Given the description of an element on the screen output the (x, y) to click on. 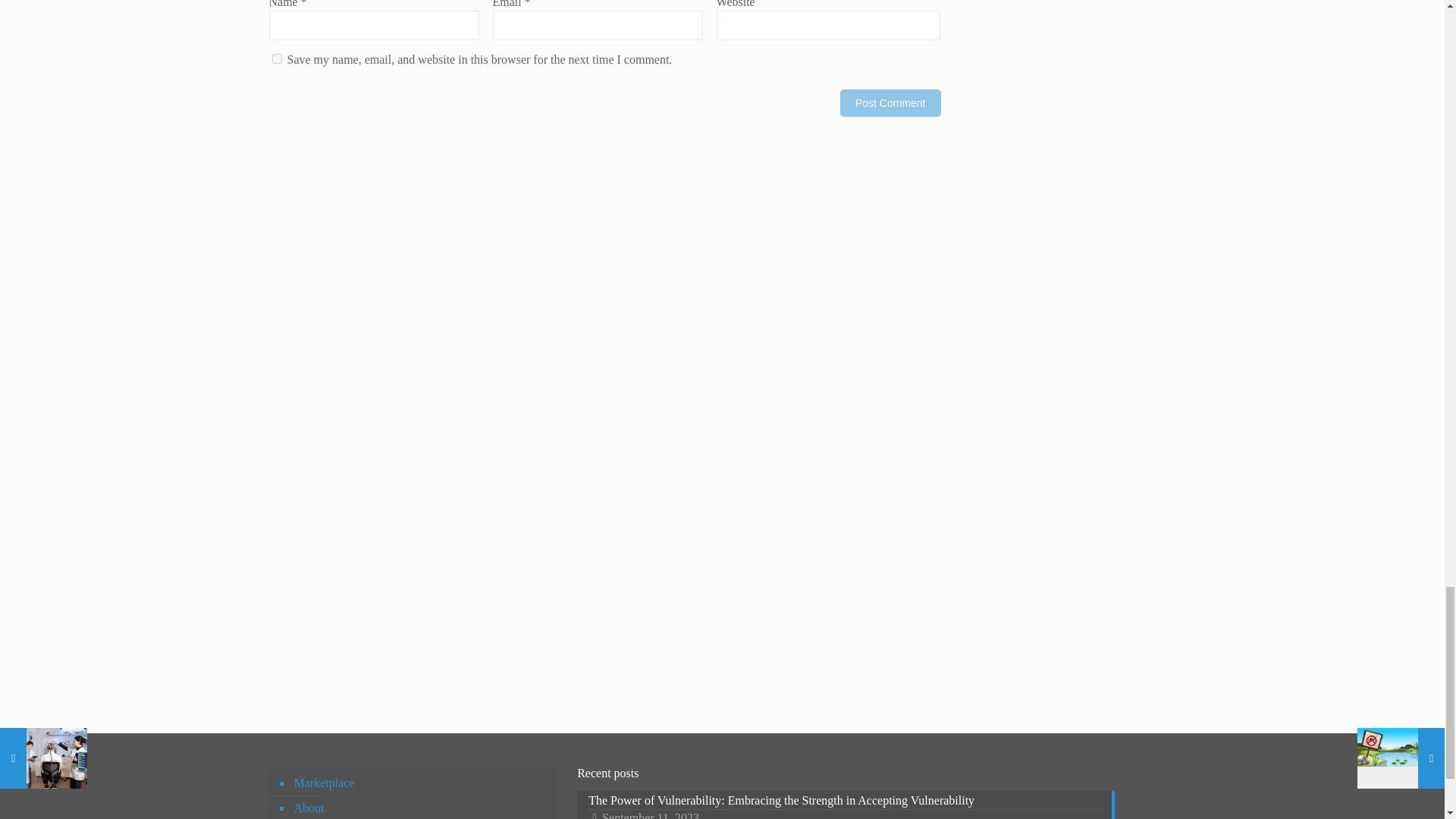
yes (275, 58)
Post Comment (890, 103)
